Given the description of an element on the screen output the (x, y) to click on. 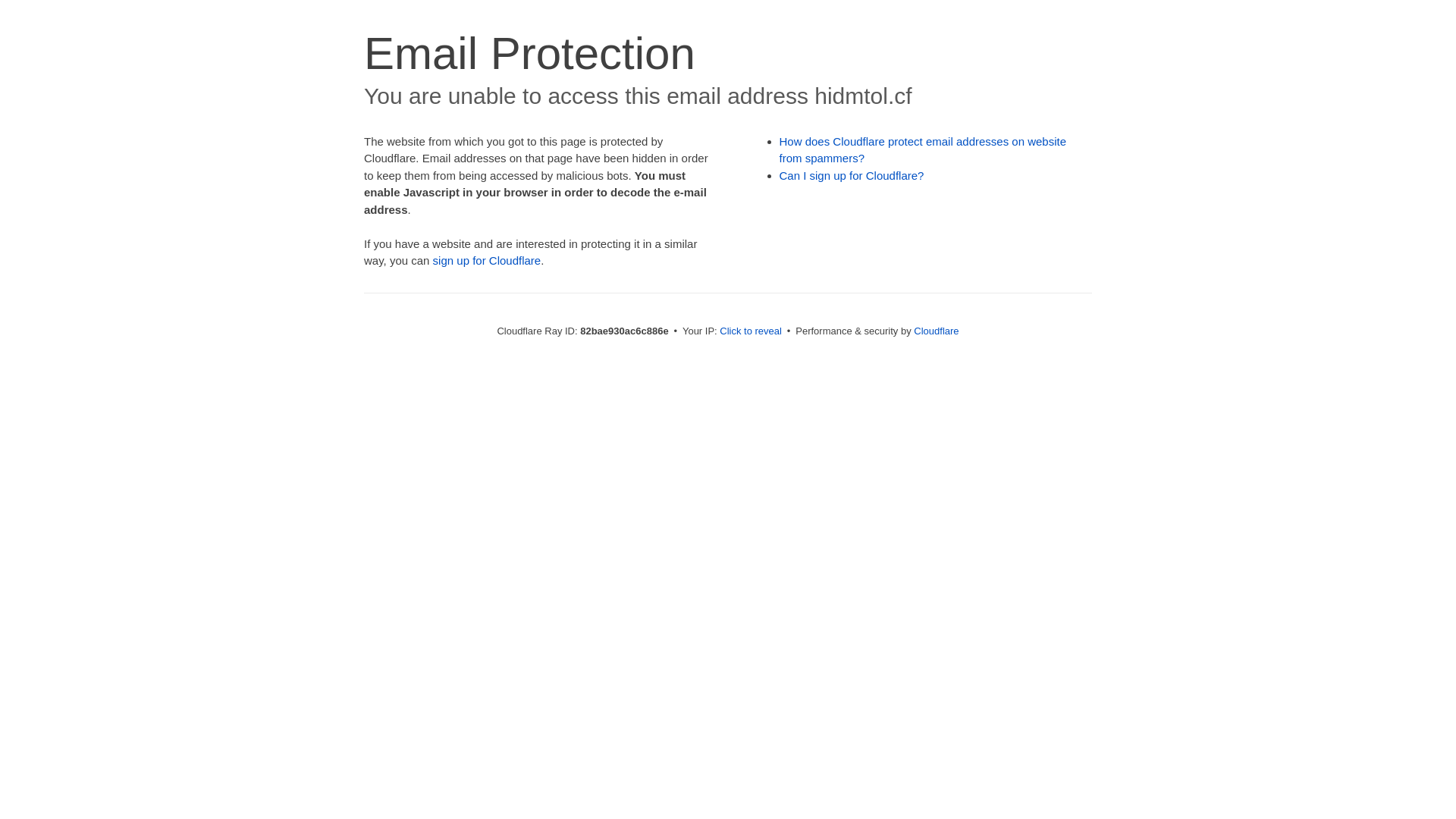
Cloudflare Element type: text (935, 330)
sign up for Cloudflare Element type: text (487, 260)
Can I sign up for Cloudflare? Element type: text (851, 175)
Click to reveal Element type: text (750, 330)
